Given the description of an element on the screen output the (x, y) to click on. 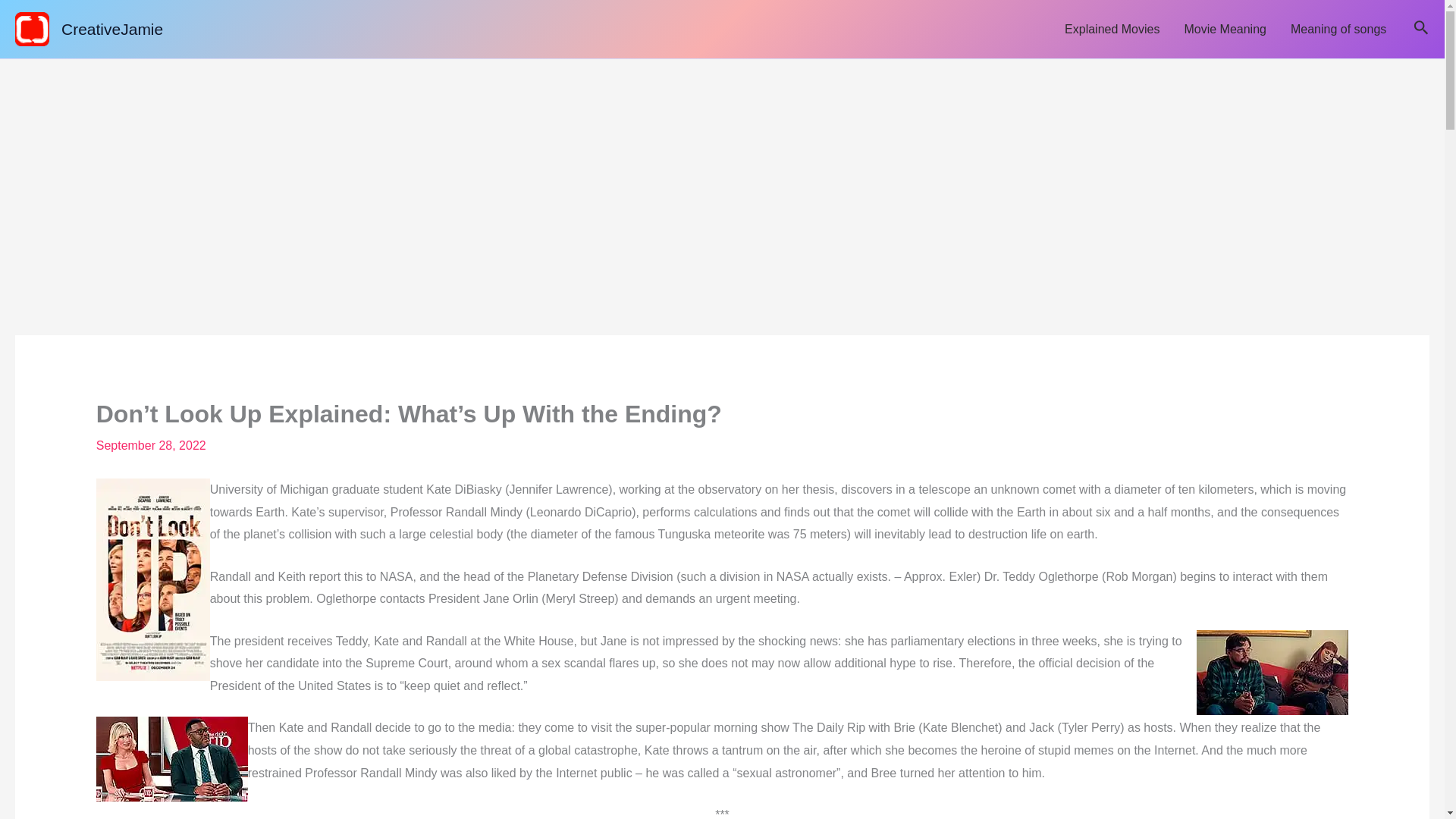
Meaning of songs (1337, 29)
CreativeJamie (112, 28)
Explained Movies (1112, 29)
Movie Meaning (1225, 29)
